Given the description of an element on the screen output the (x, y) to click on. 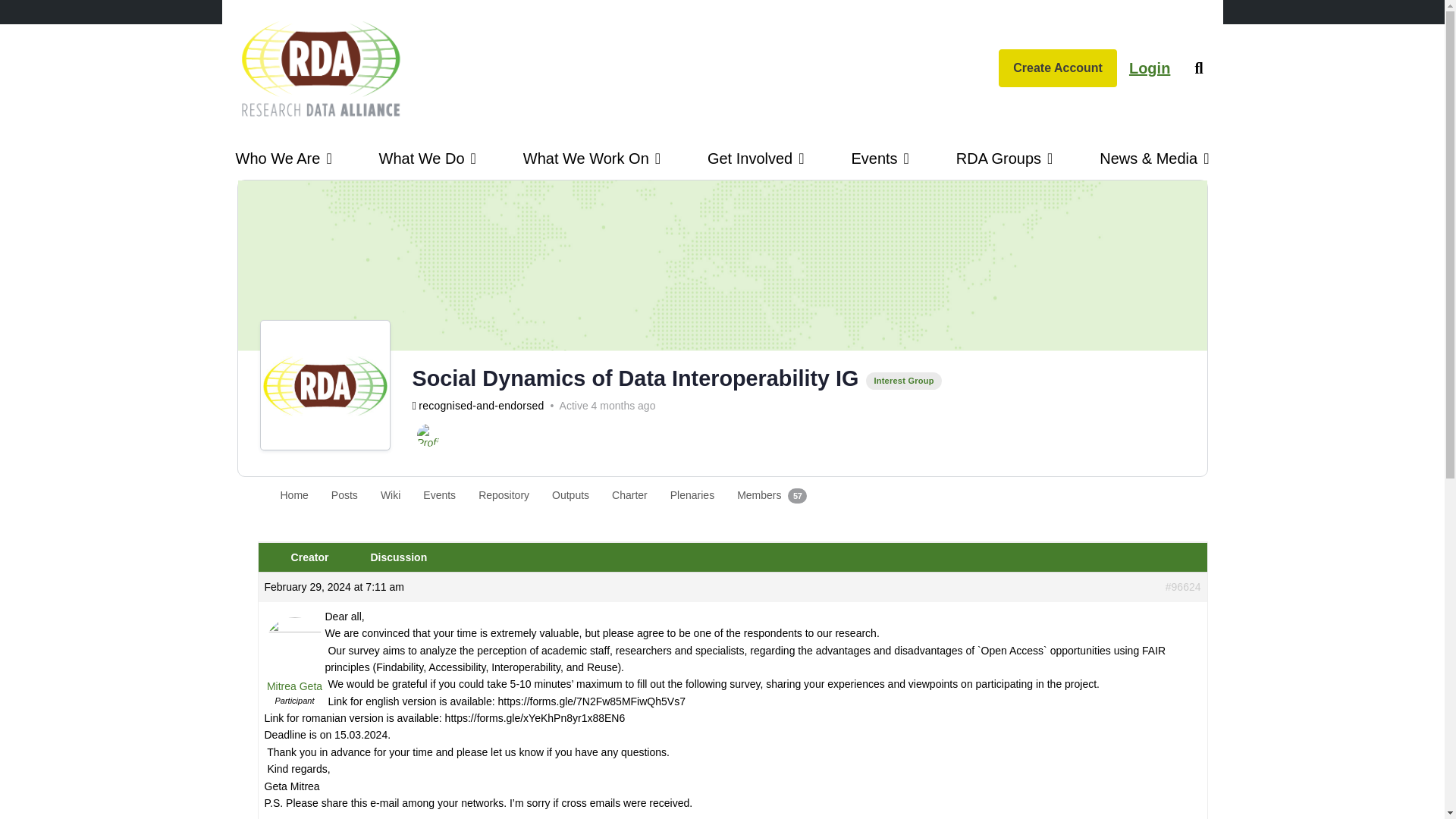
View Mitrea Geta's profile (293, 663)
Login (1149, 67)
Create Account (1057, 67)
